Given the description of an element on the screen output the (x, y) to click on. 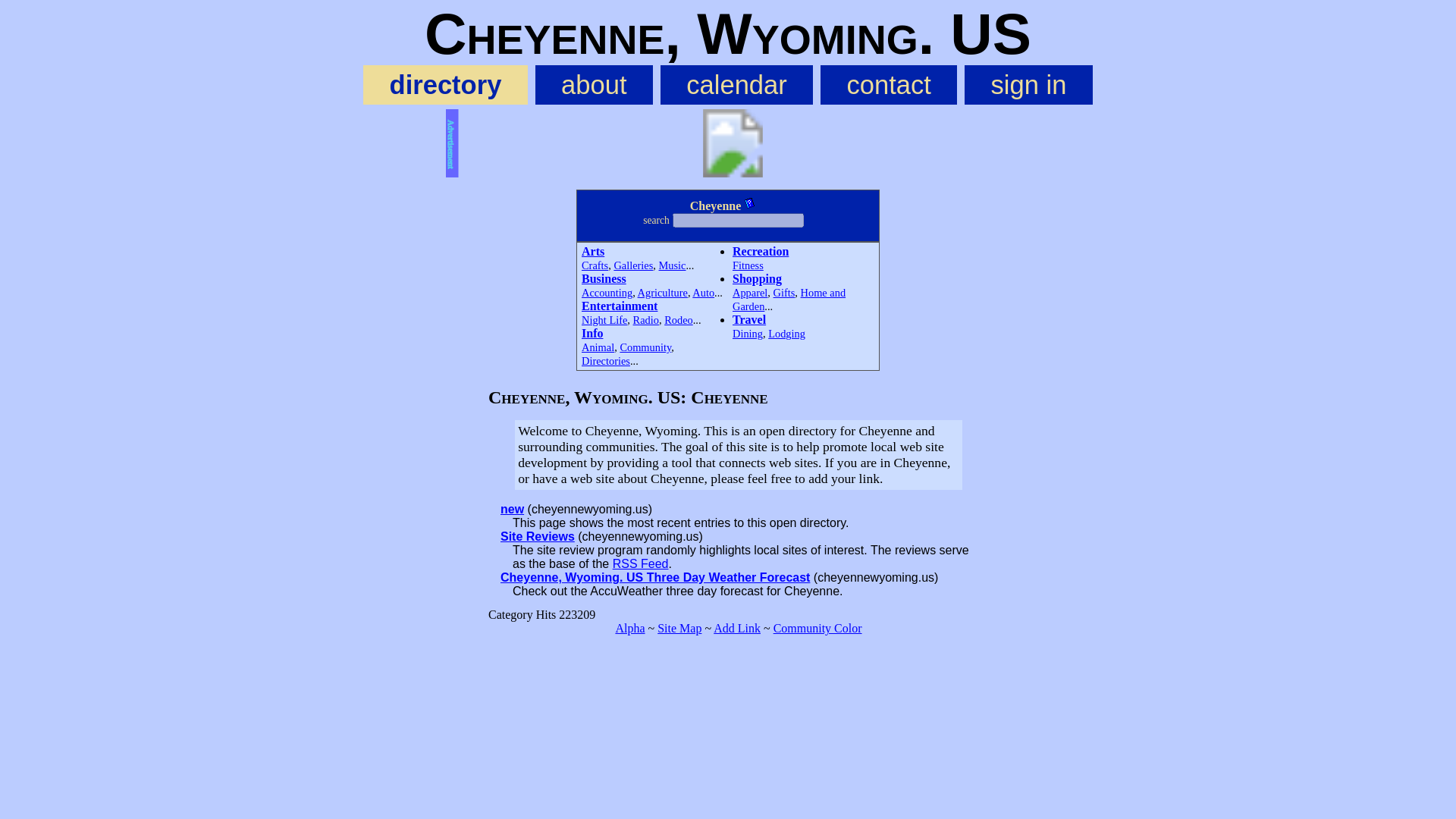
new (512, 508)
Site Map (679, 627)
Shopping (756, 278)
Agriculture (662, 292)
Night Life (603, 319)
Music (672, 265)
Alphabetical Listing of Sites (629, 627)
Galleries (632, 265)
Gifts (783, 292)
Dining (747, 333)
